Given the description of an element on the screen output the (x, y) to click on. 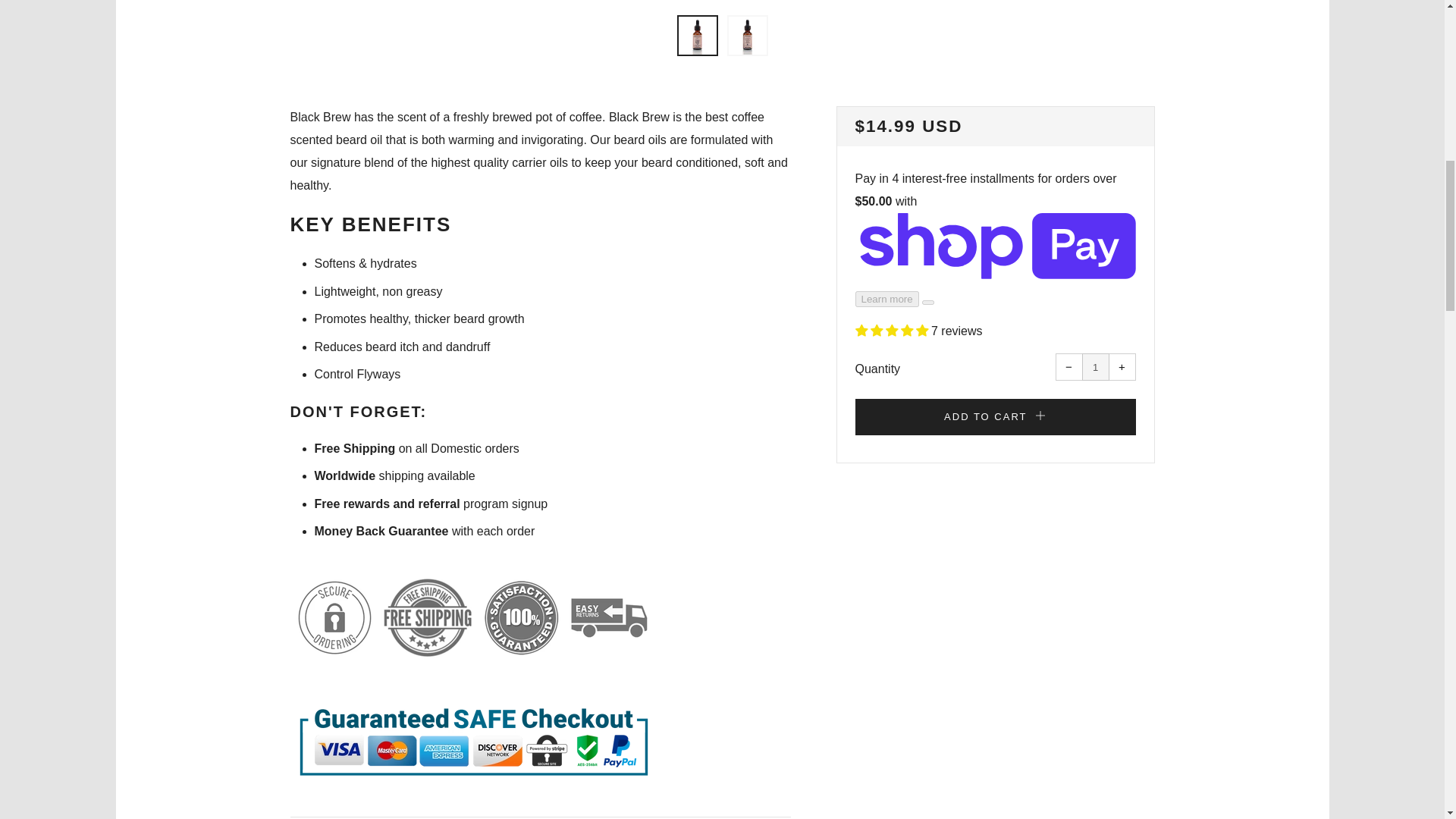
1 (1094, 366)
